Given the description of an element on the screen output the (x, y) to click on. 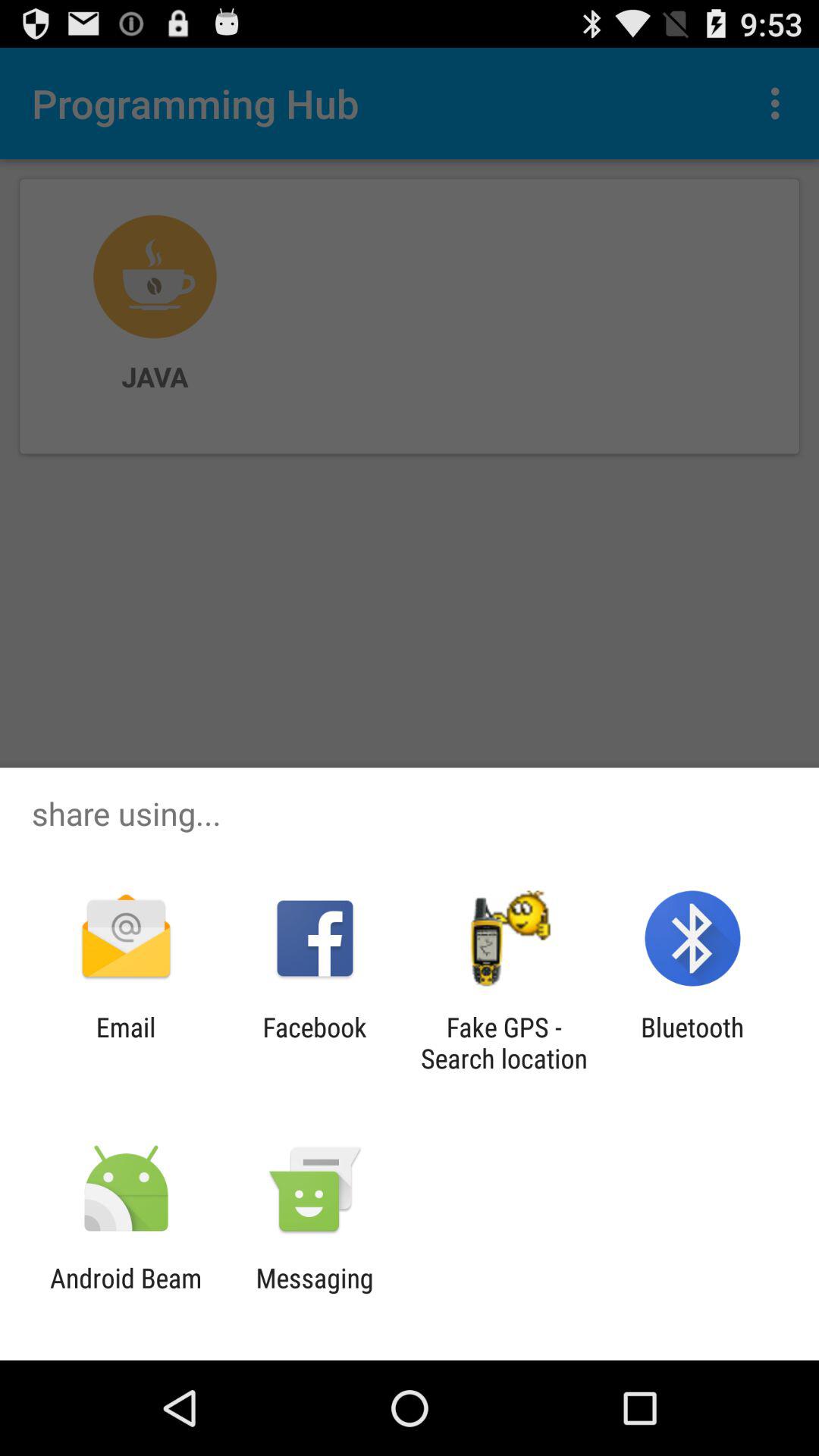
click the icon to the right of fake gps search item (691, 1042)
